Given the description of an element on the screen output the (x, y) to click on. 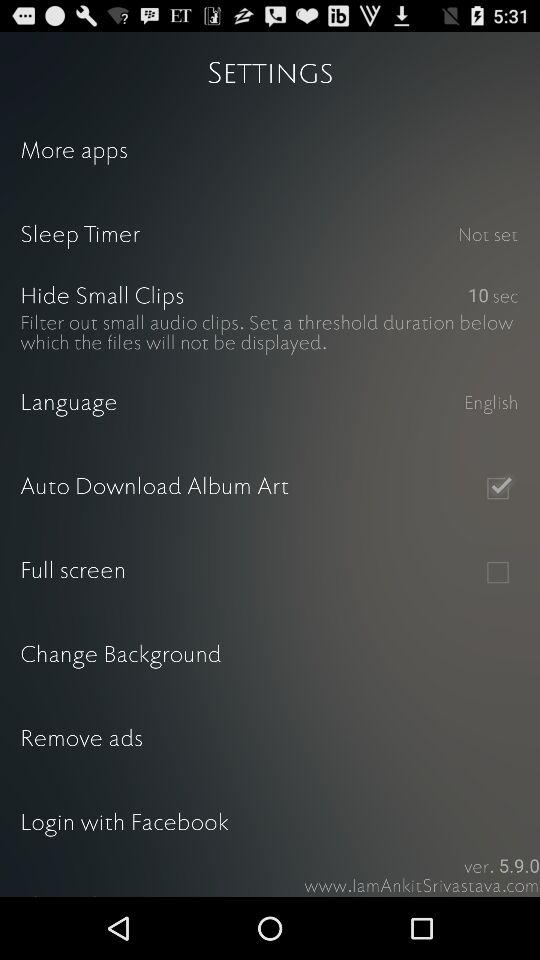
turn off share the app item (270, 881)
